Given the description of an element on the screen output the (x, y) to click on. 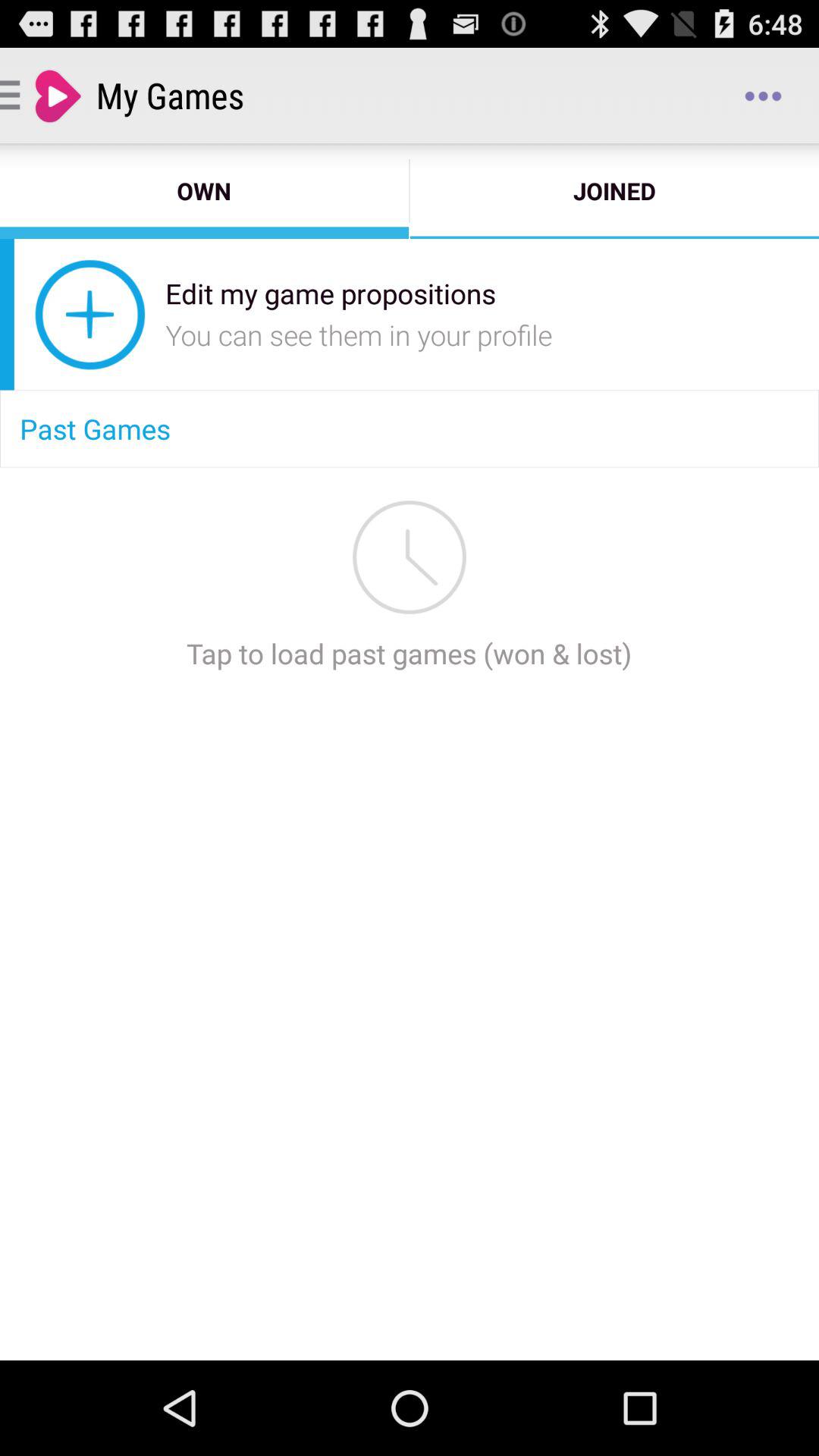
select the item to the right of the my games item (763, 95)
